Given the description of an element on the screen output the (x, y) to click on. 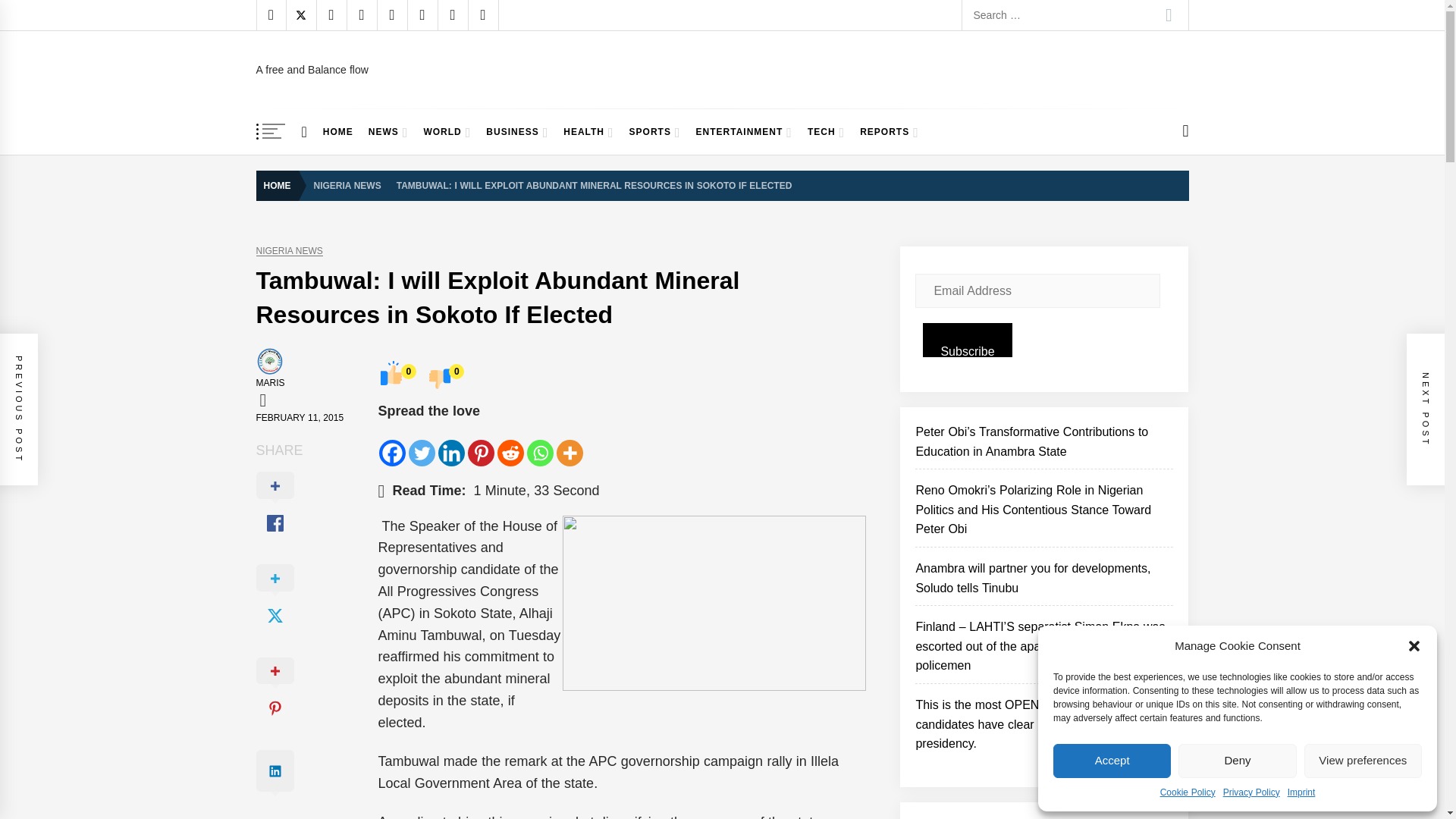
View preferences (1363, 760)
Search (1169, 15)
Cookie Policy (1187, 792)
Accept (1111, 760)
Facebook (392, 445)
HOME (338, 131)
Whatsapp (540, 445)
Privacy Policy (1251, 792)
WORLD (446, 131)
Home (304, 131)
Codewit World News (383, 76)
Search (1169, 15)
Pinterest (481, 445)
NEWS (388, 131)
Search (1169, 15)
